Given the description of an element on the screen output the (x, y) to click on. 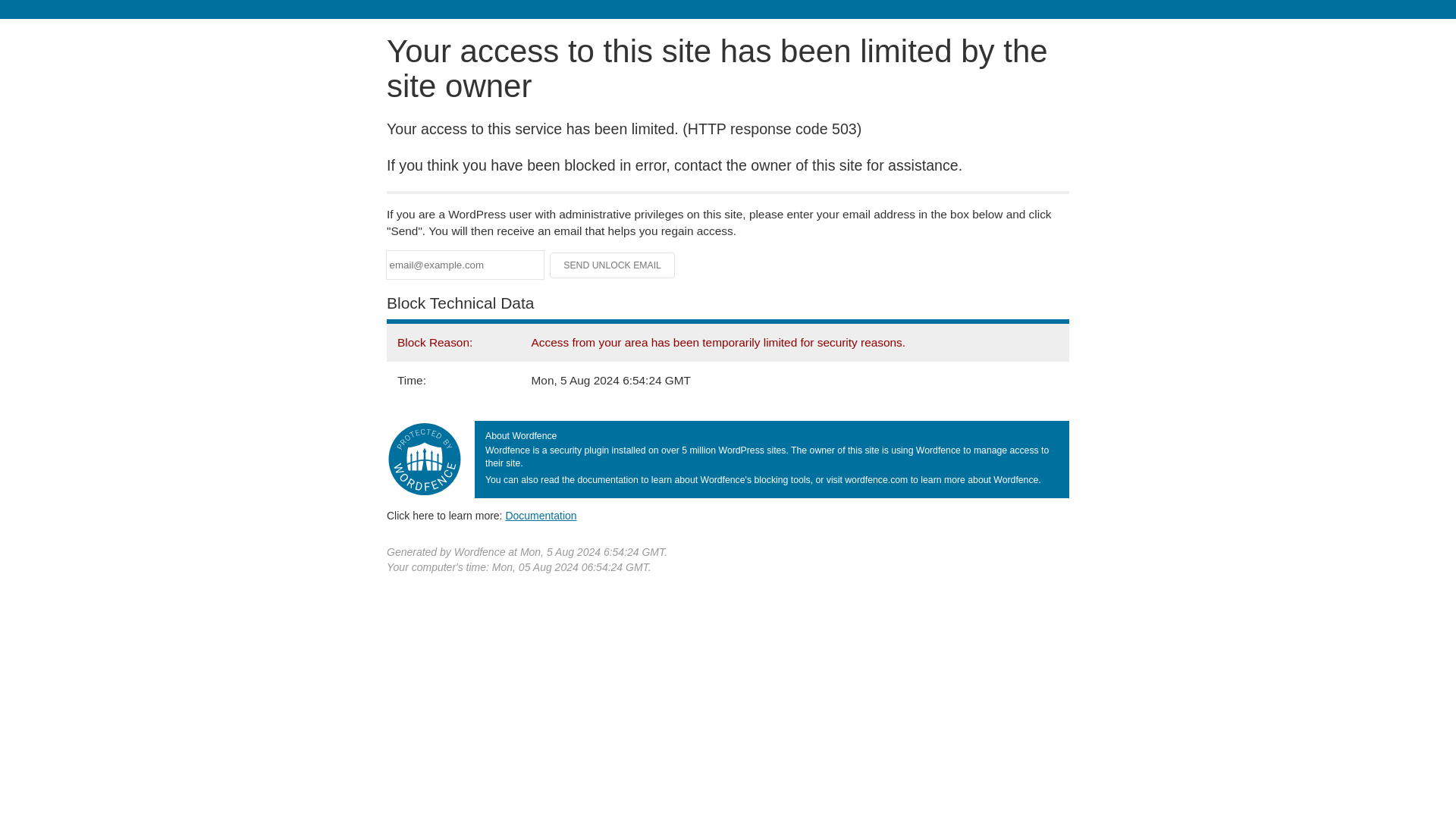
Documentation (540, 515)
Send Unlock Email (612, 265)
Send Unlock Email (612, 265)
